Given the description of an element on the screen output the (x, y) to click on. 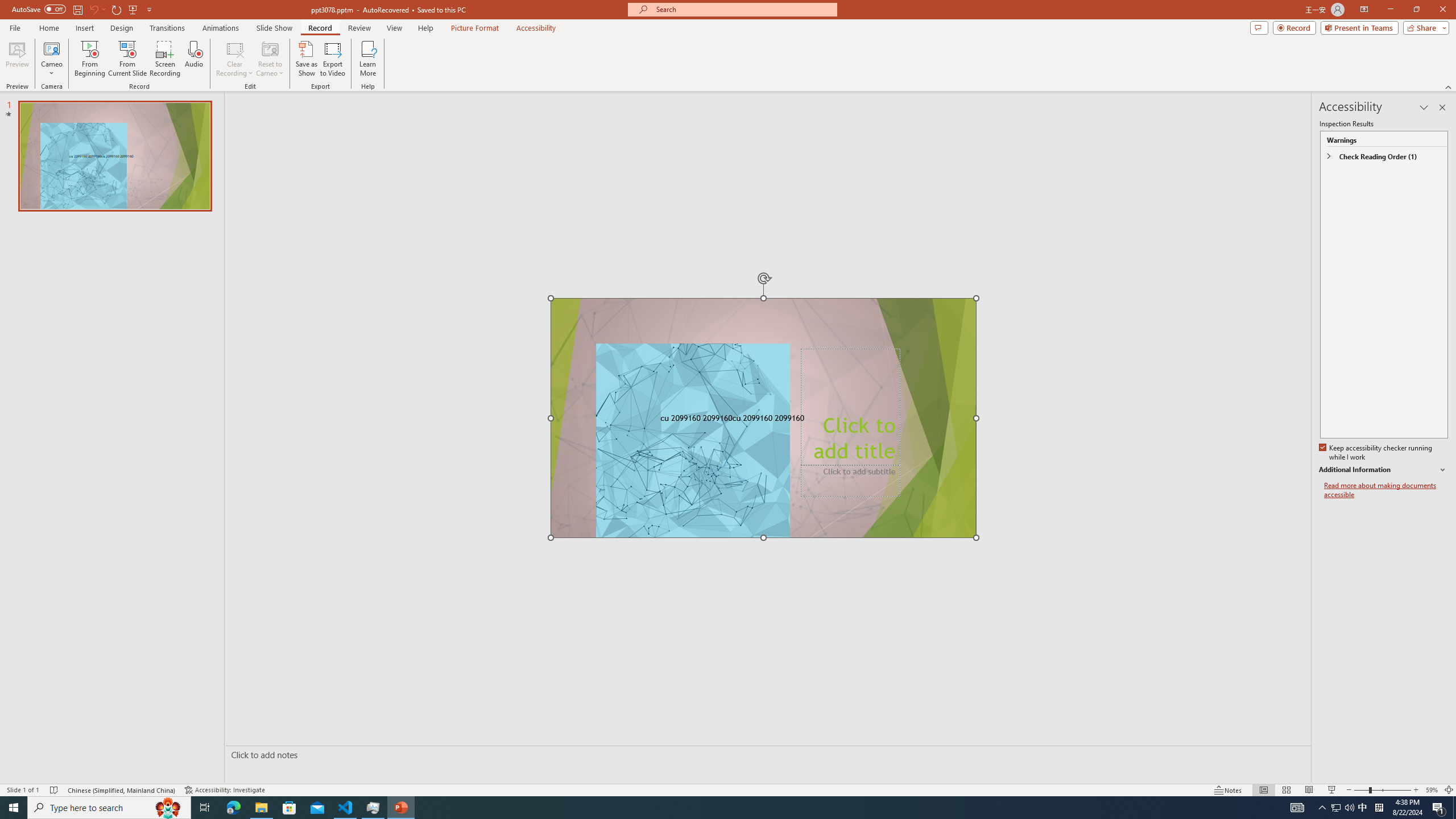
Reset to Cameo (269, 58)
Zoom 59% (1431, 790)
From Current Slide... (127, 58)
